Given the description of an element on the screen output the (x, y) to click on. 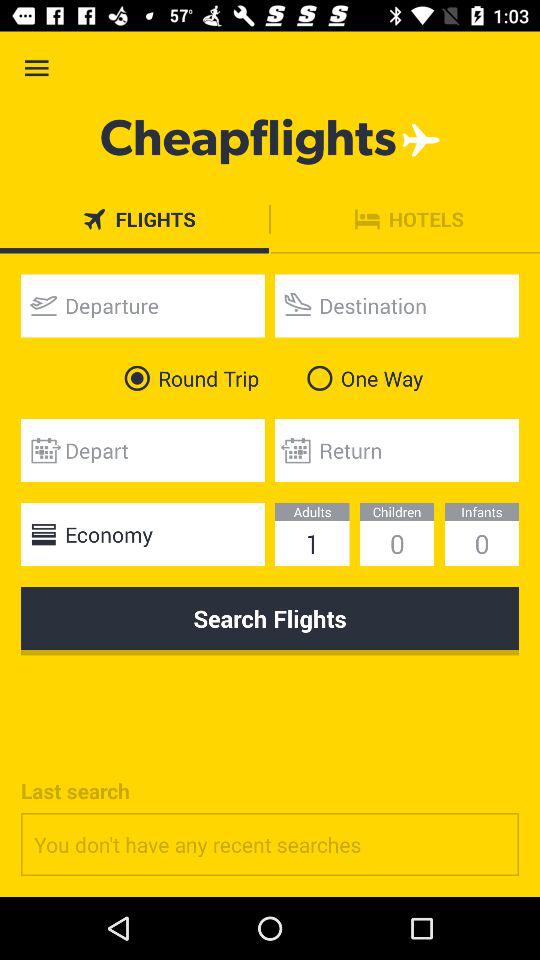
turn on icon above search flights (142, 534)
